Given the description of an element on the screen output the (x, y) to click on. 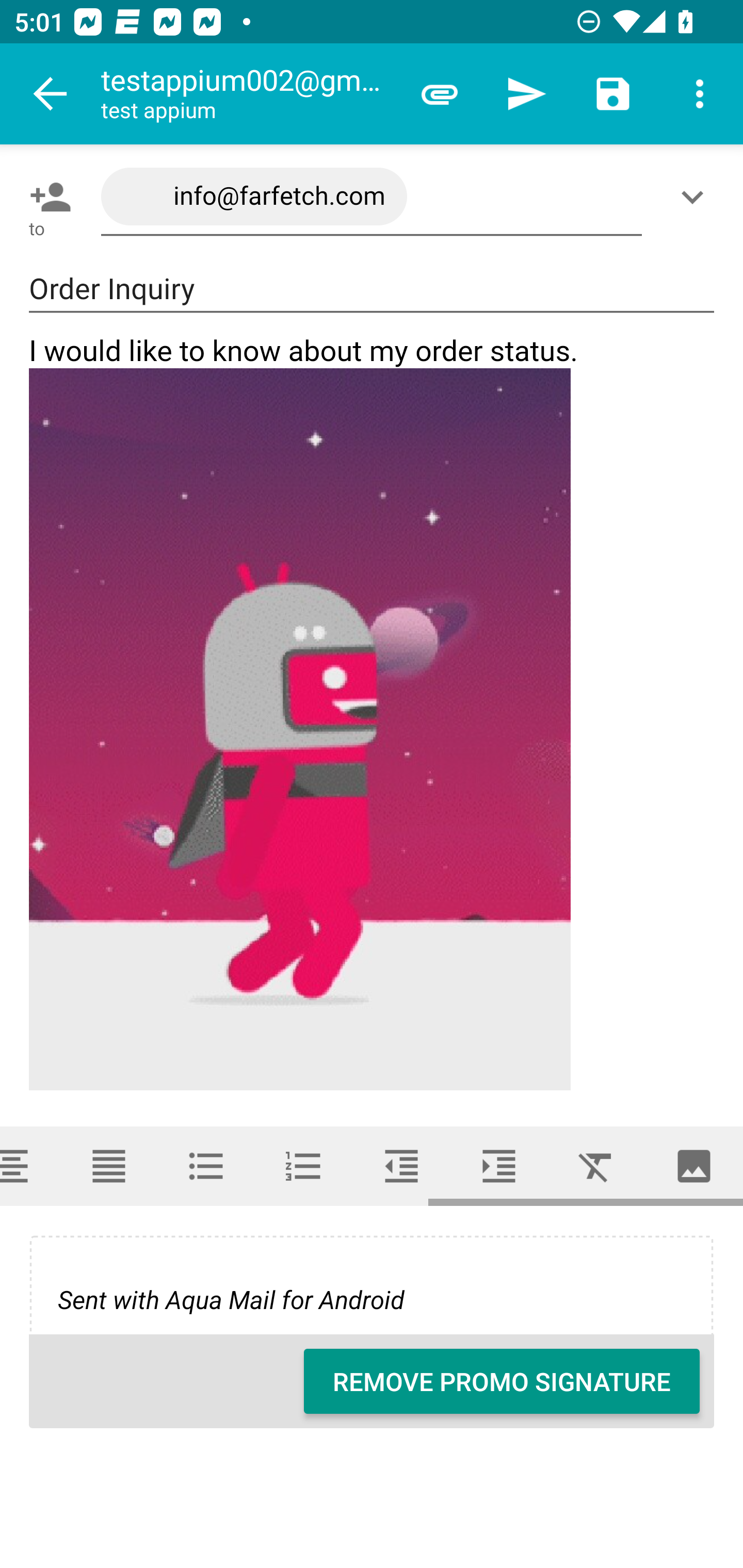
Navigate up (50, 93)
testappium002@gmail.com test appium (248, 93)
Attach (439, 93)
Send (525, 93)
Save (612, 93)
More options (699, 93)
info@farfetch.com,  (371, 197)
Pick contact: To (46, 196)
Show/Add CC/BCC (696, 196)
Order Inquiry (371, 288)
I would like to know about my order status.
 (372, 711)
Align center (30, 1165)
Full justify (108, 1165)
List (bulleted) (206, 1165)
List (numbered) (303, 1165)
Decrease indent (401, 1165)
Increase indent (499, 1165)
Clear format (596, 1165)
Insert image (694, 1165)
REMOVE PROMO SIGNATURE (501, 1381)
